Given the description of an element on the screen output the (x, y) to click on. 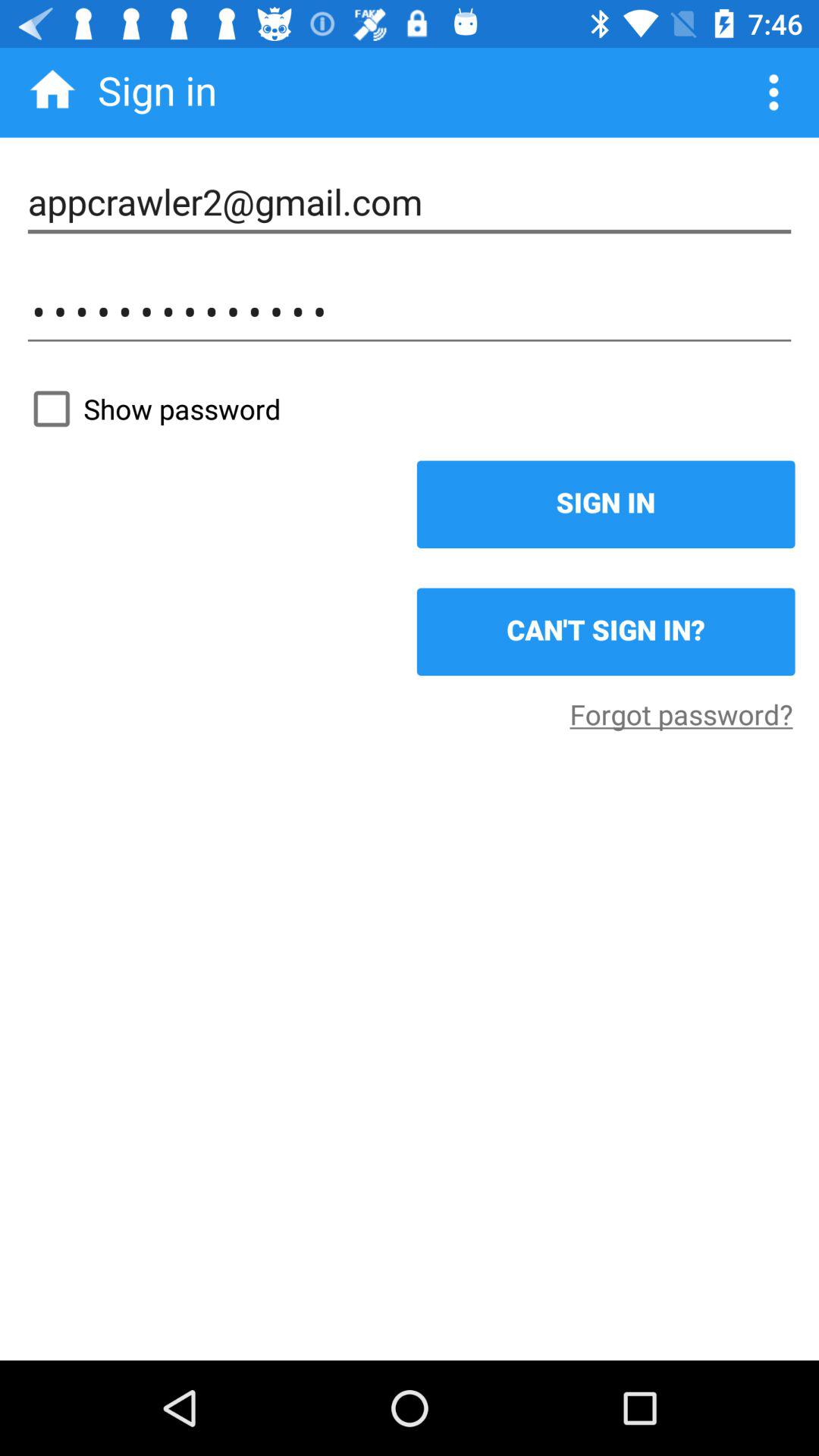
launch the show password icon (409, 408)
